Given the description of an element on the screen output the (x, y) to click on. 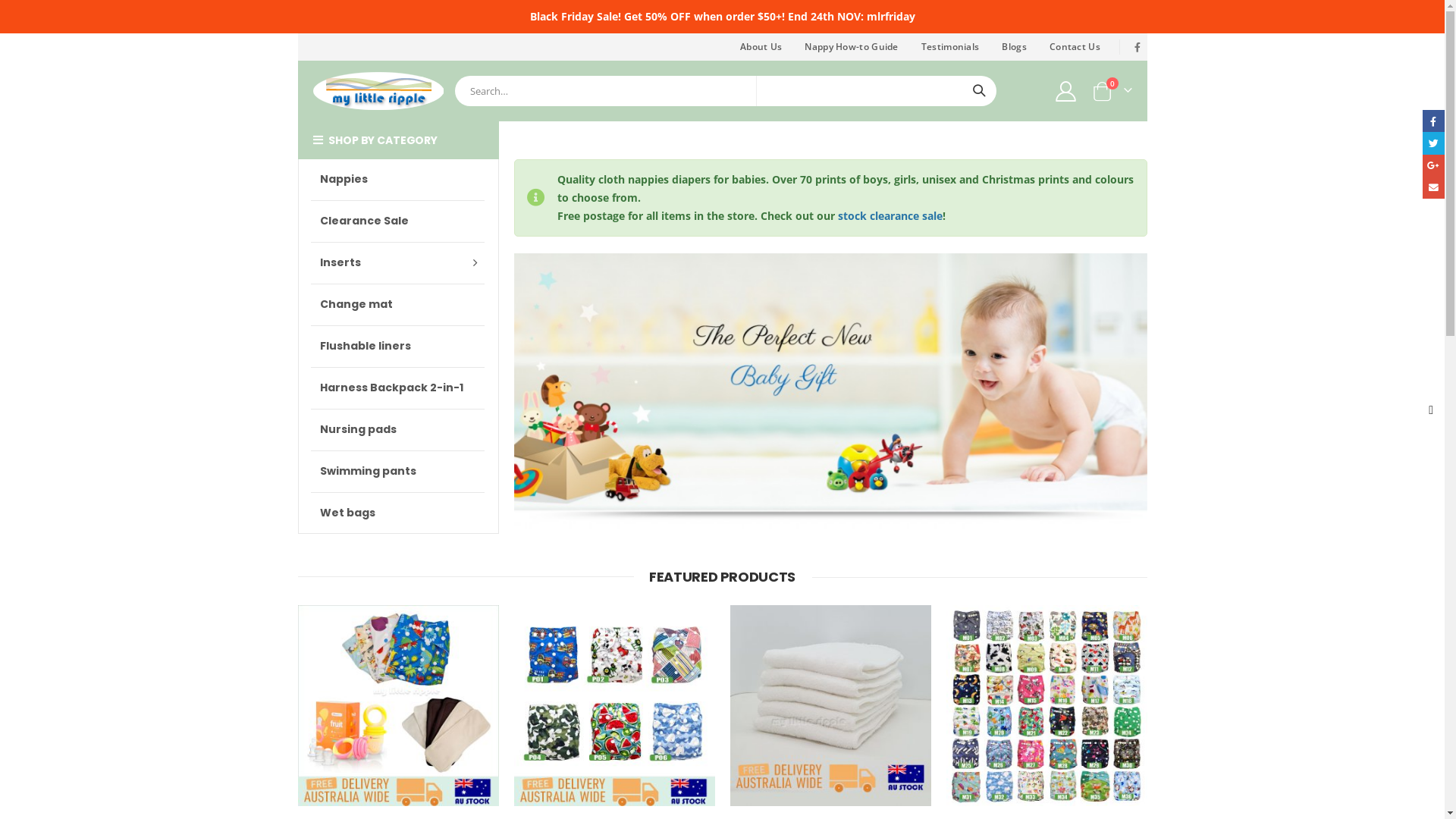
Nappies Element type: text (397, 179)
Nursing pads Element type: text (397, 428)
Search Element type: hover (978, 90)
Contact Us Element type: text (1074, 46)
Change mat Element type: text (397, 303)
stock clearance sale Element type: text (889, 215)
Inserts Element type: text (397, 261)
My Account Element type: hover (1065, 90)
Google + Element type: text (1433, 165)
Swimming pants Element type: text (397, 470)
Twitter Element type: text (1433, 142)
Harness Backpack 2-in-1 Element type: text (397, 387)
Nappy How-to Guide Element type: text (851, 46)
Testimonials Element type: text (950, 46)
Facebook Element type: hover (1137, 46)
Facebook Element type: text (1433, 120)
Email Element type: text (1433, 187)
About Us Element type: text (760, 46)
Flushable liners Element type: text (397, 345)
Clearance Sale Element type: text (397, 220)
Blogs Element type: text (1014, 46)
Wet bags Element type: text (397, 512)
